Given the description of an element on the screen output the (x, y) to click on. 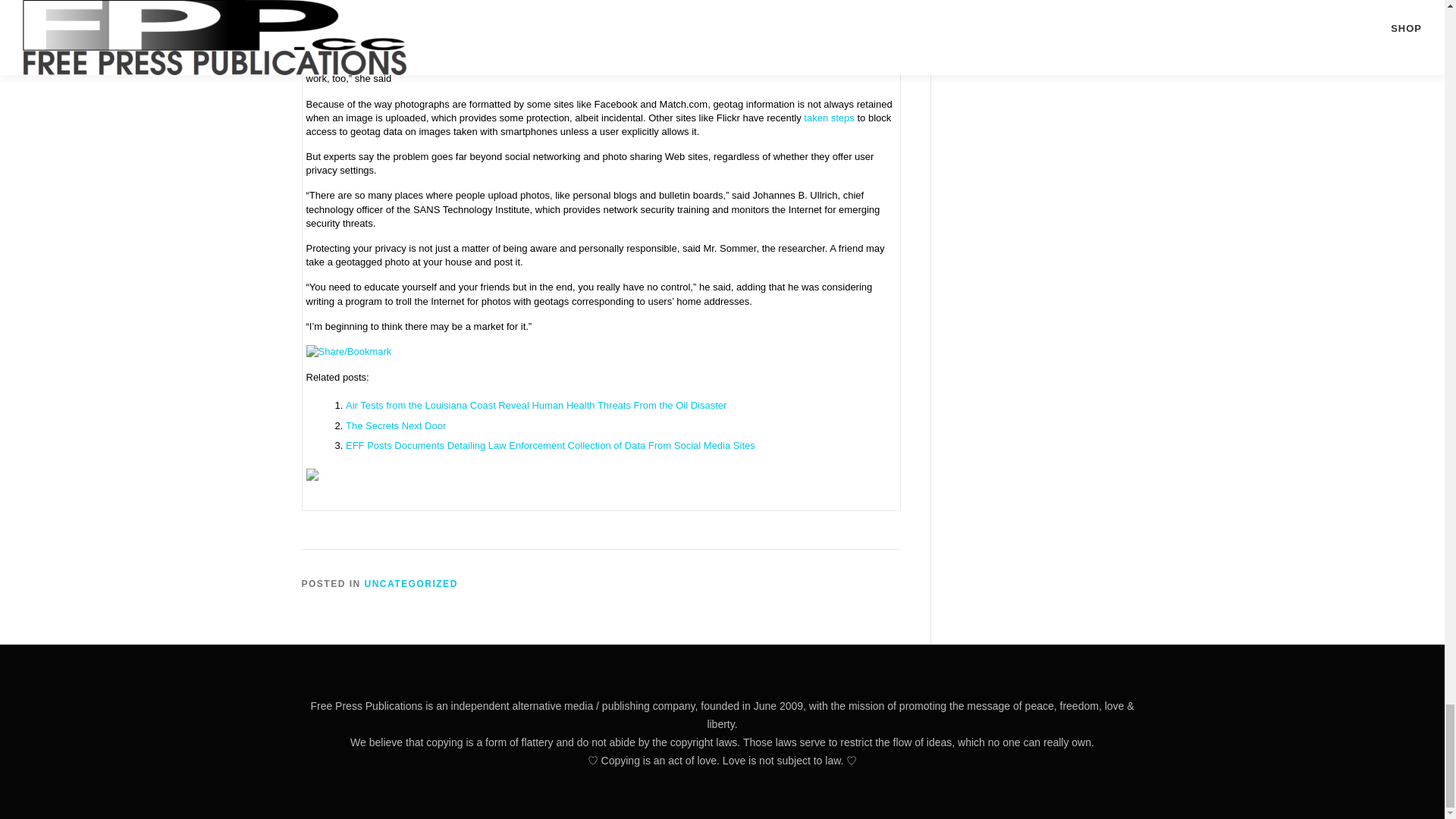
Permanent Link: The Secrets Next Door (395, 424)
